Given the description of an element on the screen output the (x, y) to click on. 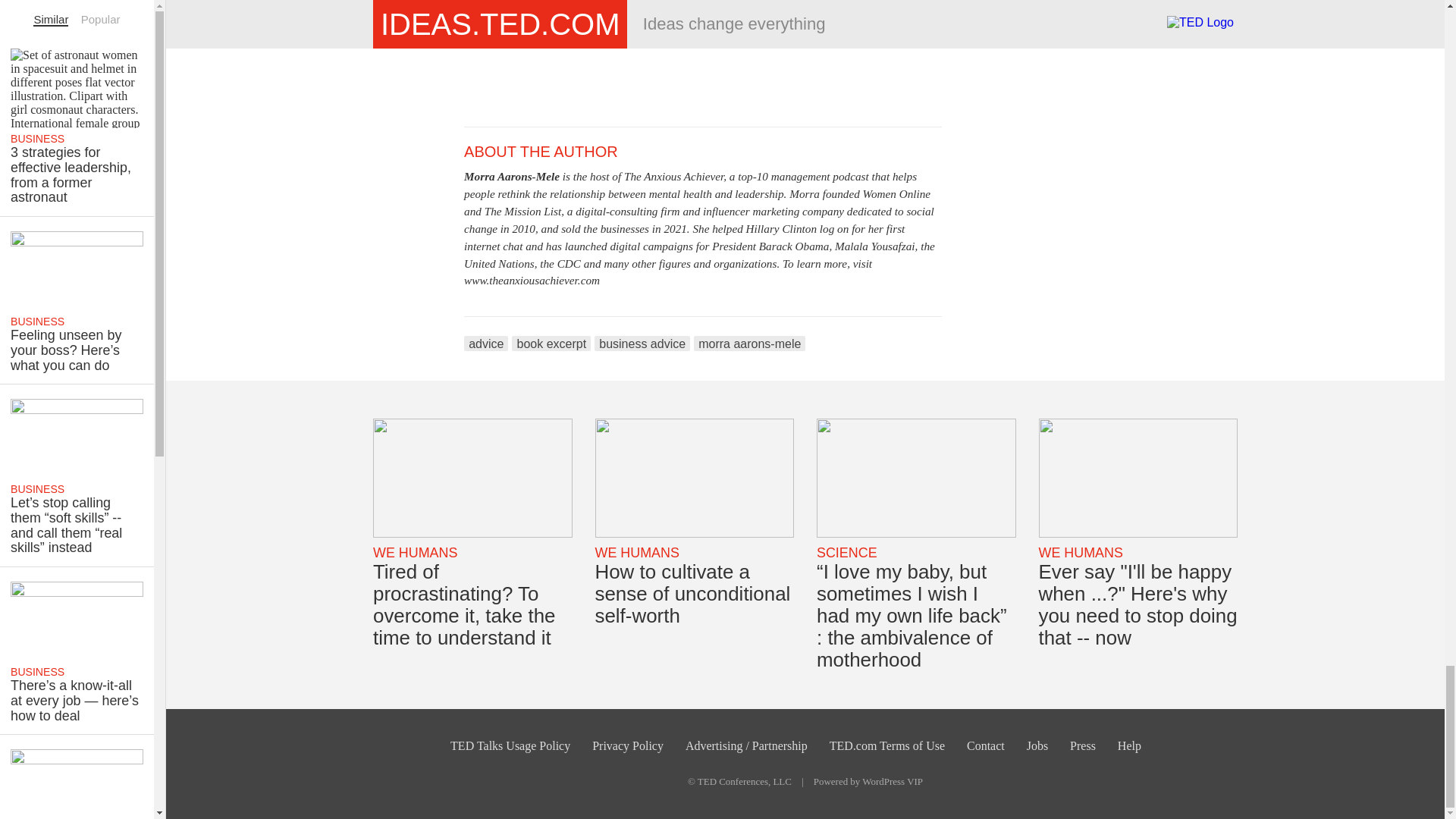
book excerpt (551, 343)
Morra Aarons-Mele (511, 175)
advice (486, 343)
Morra Aarons-Mele: 3 steps to stop remote work burnout (703, 53)
morra aarons-mele (749, 343)
business advice (642, 343)
